Given the description of an element on the screen output the (x, y) to click on. 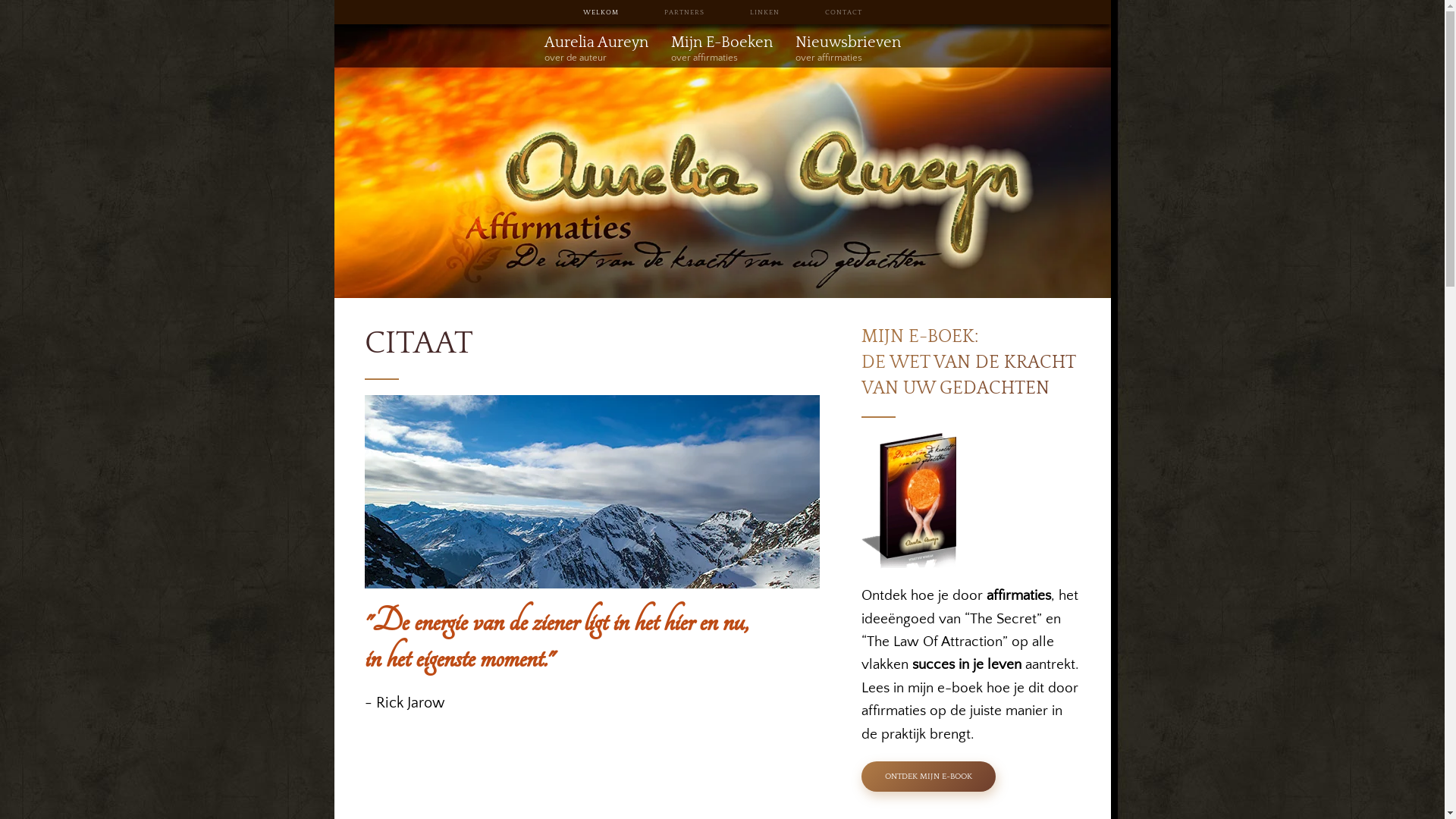
WELKOM Element type: text (600, 11)
PARTNERS Element type: text (684, 11)
Aurelia Aureyn
over de auteur Element type: text (596, 49)
Nieuwsbrieven
over affirmaties Element type: text (847, 49)
ONTDEK MIJN E-BOOK Element type: text (928, 776)
Mijn E-Boeken
over affirmaties Element type: text (720, 49)
CONTACT Element type: text (843, 11)
LINKEN Element type: text (763, 11)
